Given the description of an element on the screen output the (x, y) to click on. 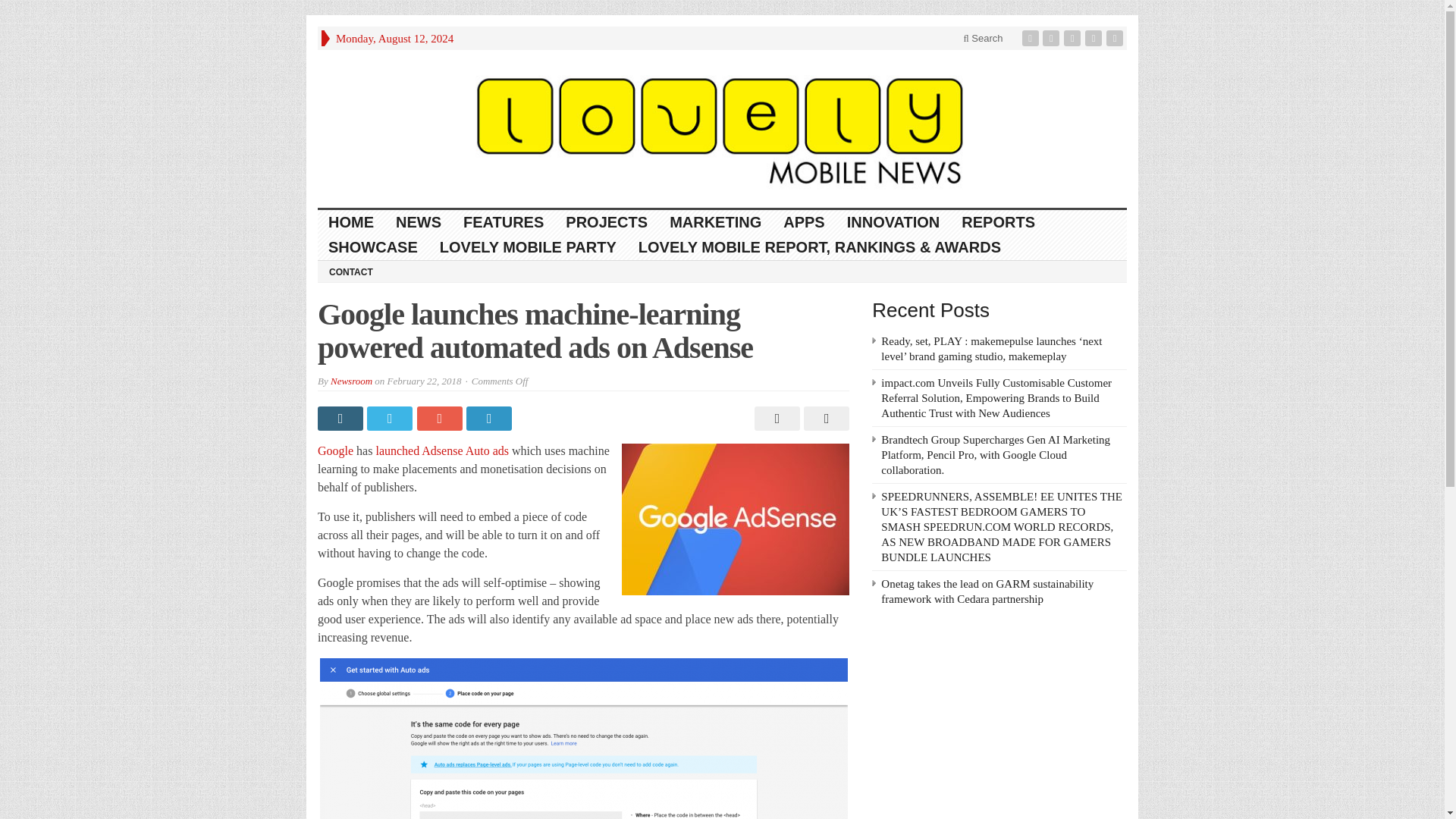
REPORTS (998, 222)
Twitter (1052, 37)
INNOVATION (893, 222)
Google (335, 450)
Subscribe by Email (1094, 37)
Lovely Mobile News (721, 128)
NEWS (418, 222)
FEATURES (503, 222)
Share on LinkedIn (490, 418)
LOVELY MOBILE PARTY (528, 247)
